Given the description of an element on the screen output the (x, y) to click on. 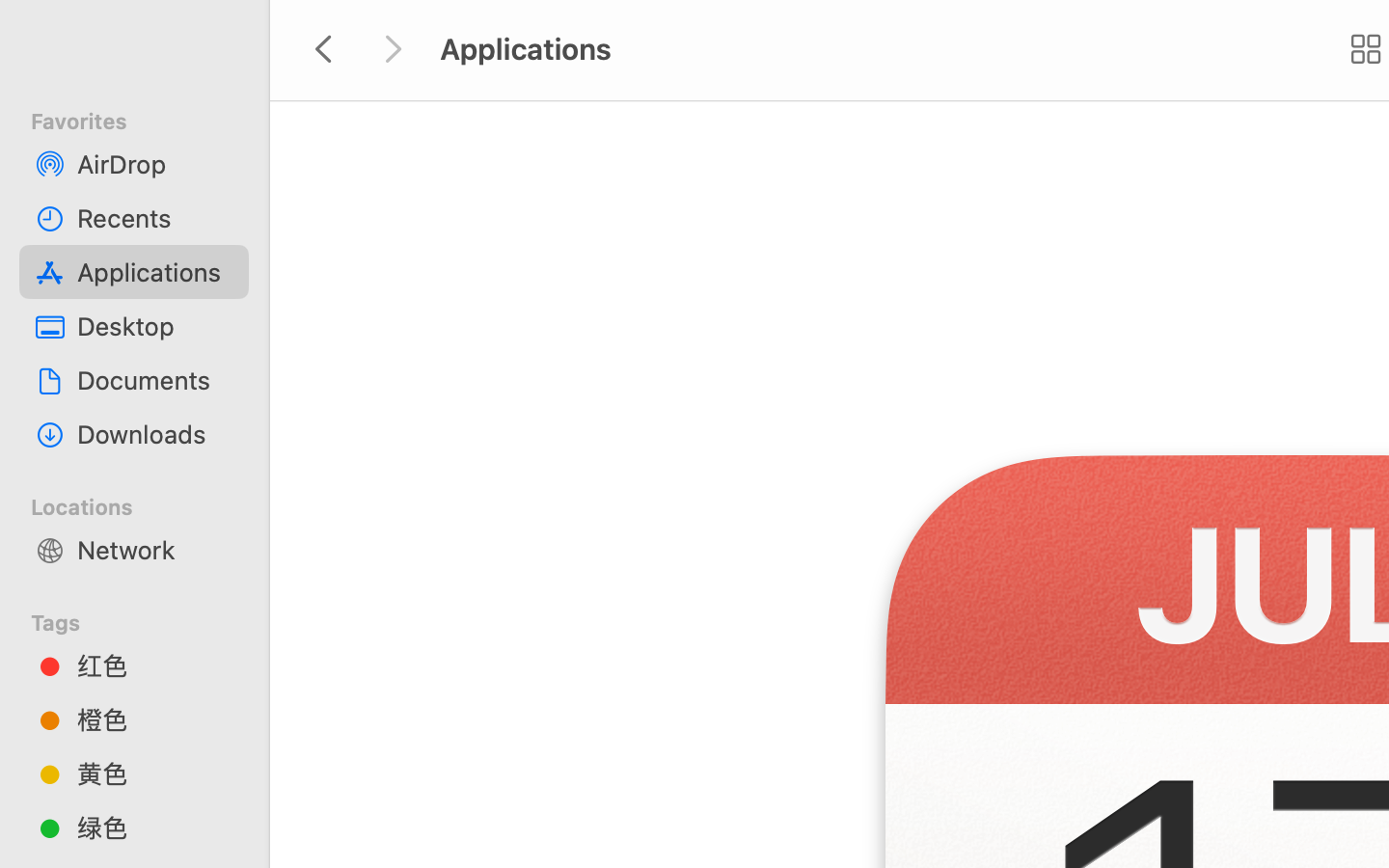
Downloads Element type: AXStaticText (155, 433)
Documents Element type: AXStaticText (155, 379)
Favorites Element type: AXStaticText (145, 118)
Tags Element type: AXStaticText (145, 619)
黄色 Element type: AXStaticText (155, 773)
